Given the description of an element on the screen output the (x, y) to click on. 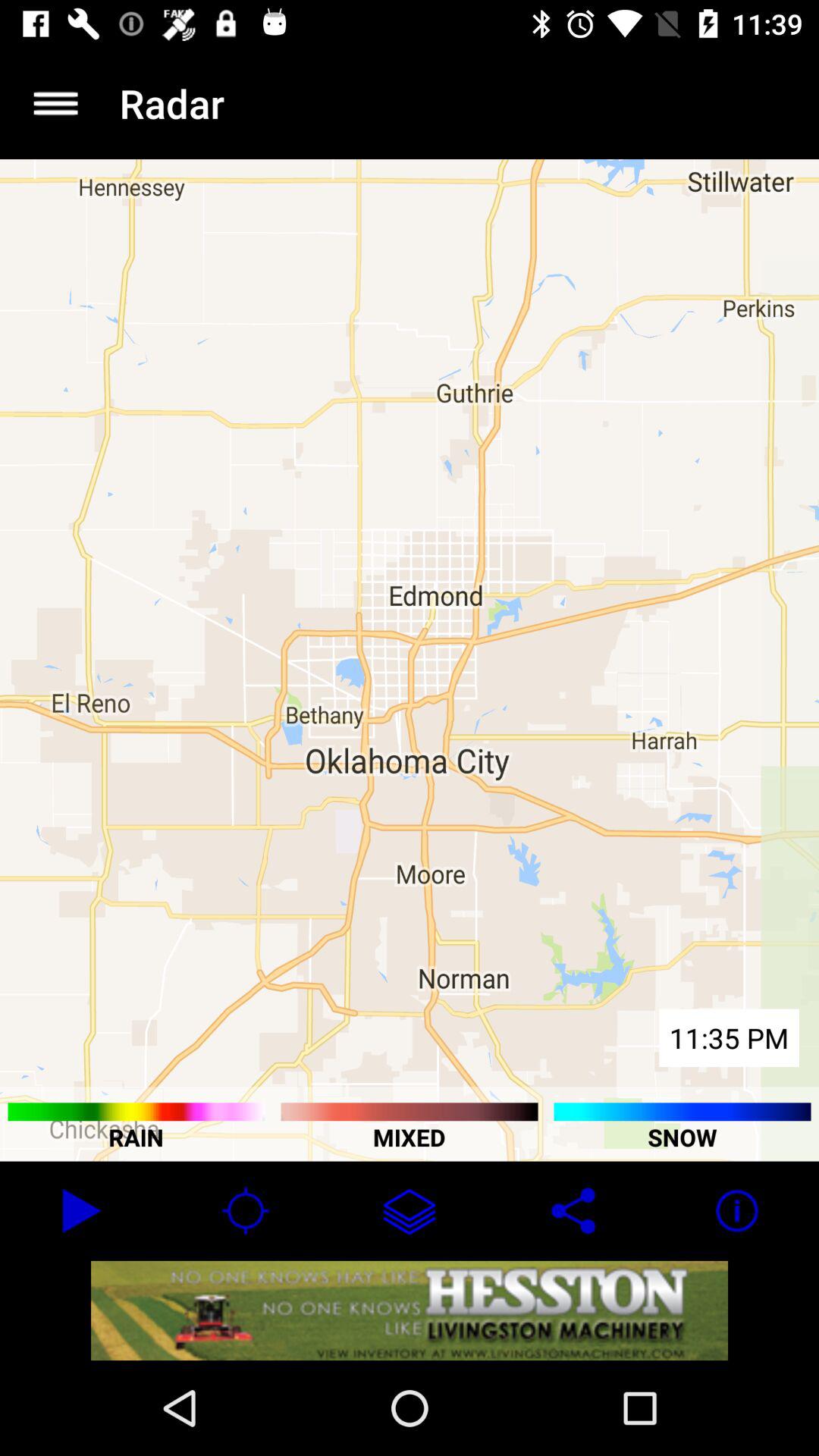
menu options (55, 103)
